Given the description of an element on the screen output the (x, y) to click on. 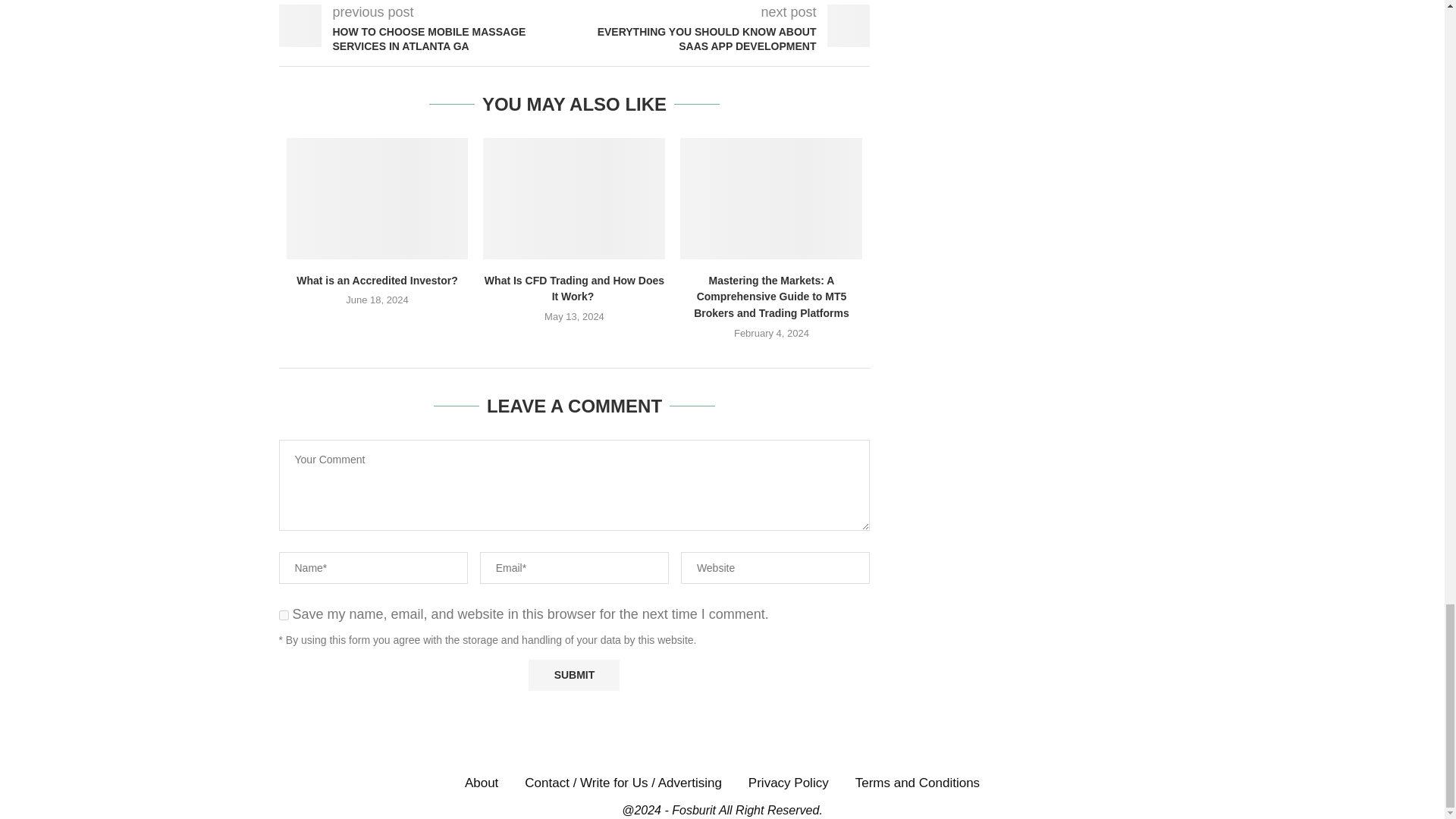
What is an Accredited Investor? (377, 198)
yes (283, 614)
Submit (574, 675)
EVERYTHING YOU SHOULD KNOW ABOUT SAAS APP DEVELOPMENT (722, 39)
HOW TO CHOOSE MOBILE MASSAGE SERVICES IN ATLANTA GA (427, 39)
